Given the description of an element on the screen output the (x, y) to click on. 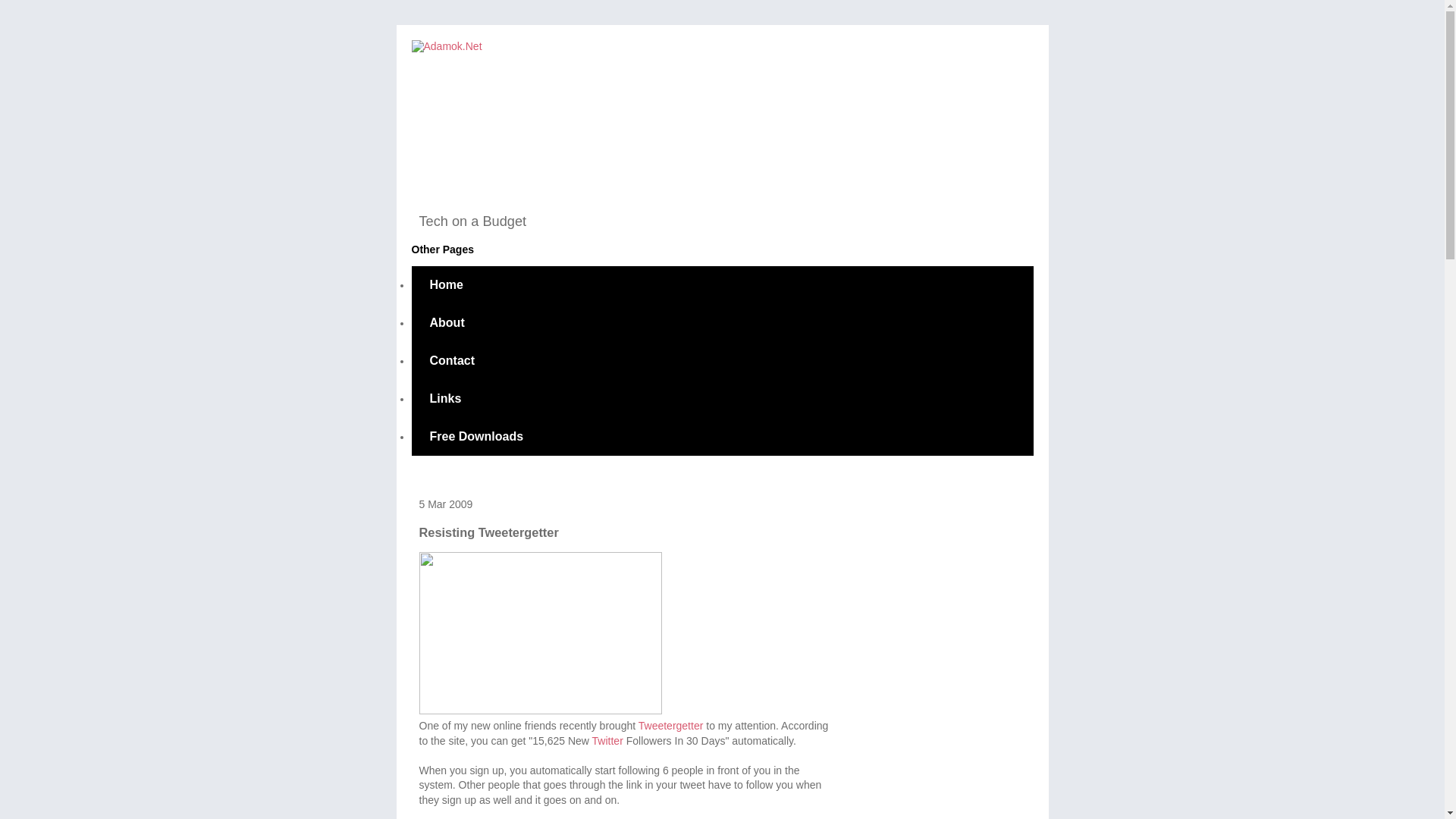
Home (445, 284)
Contact (451, 361)
Tweetergetter (671, 725)
About (445, 322)
Free Downloads (475, 436)
Twitter (607, 740)
Links (444, 398)
